Given the description of an element on the screen output the (x, y) to click on. 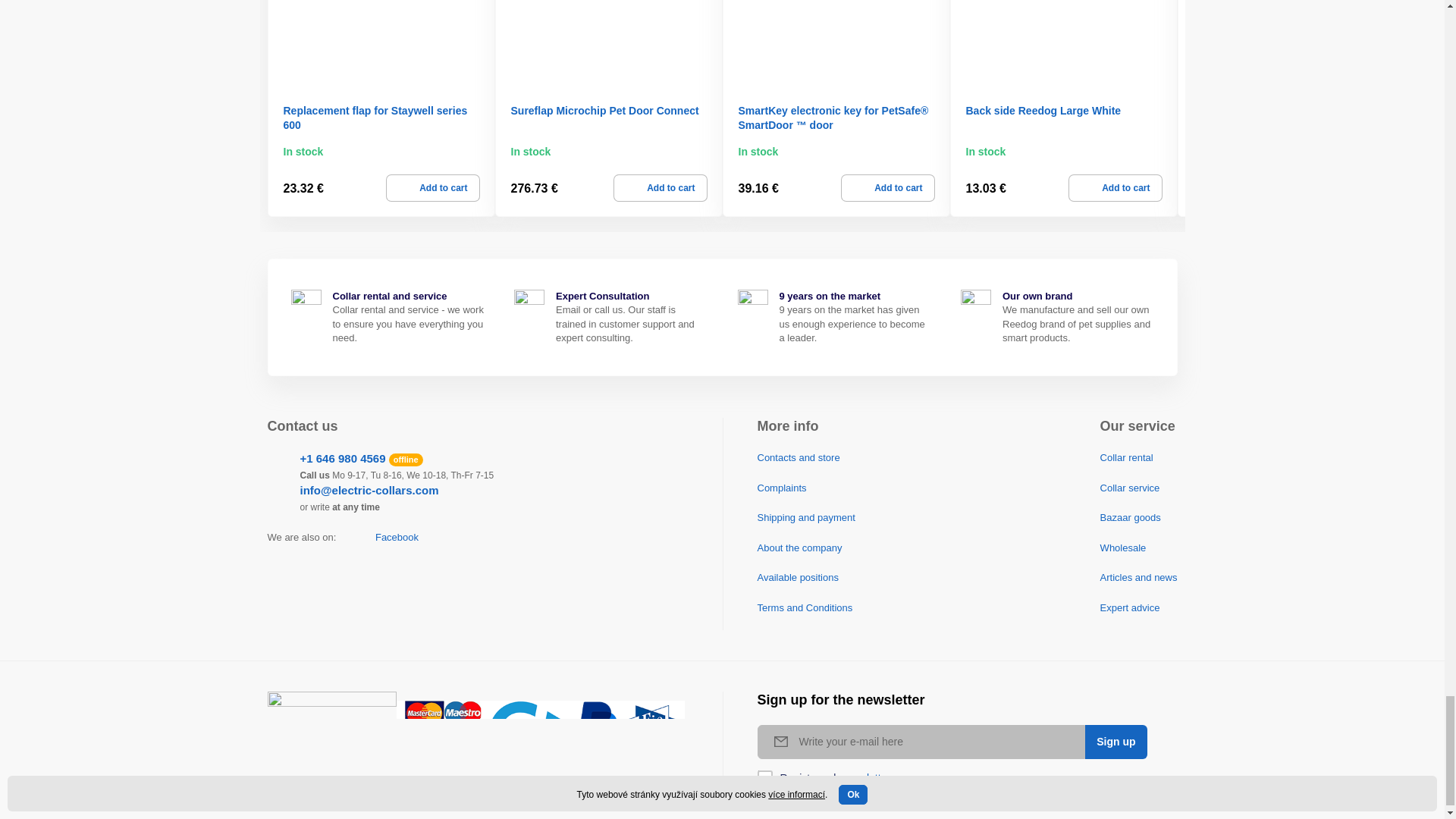
Add to cart (433, 187)
Add to cart (1114, 187)
Add to cart (660, 187)
Add to cart (887, 187)
